Given the description of an element on the screen output the (x, y) to click on. 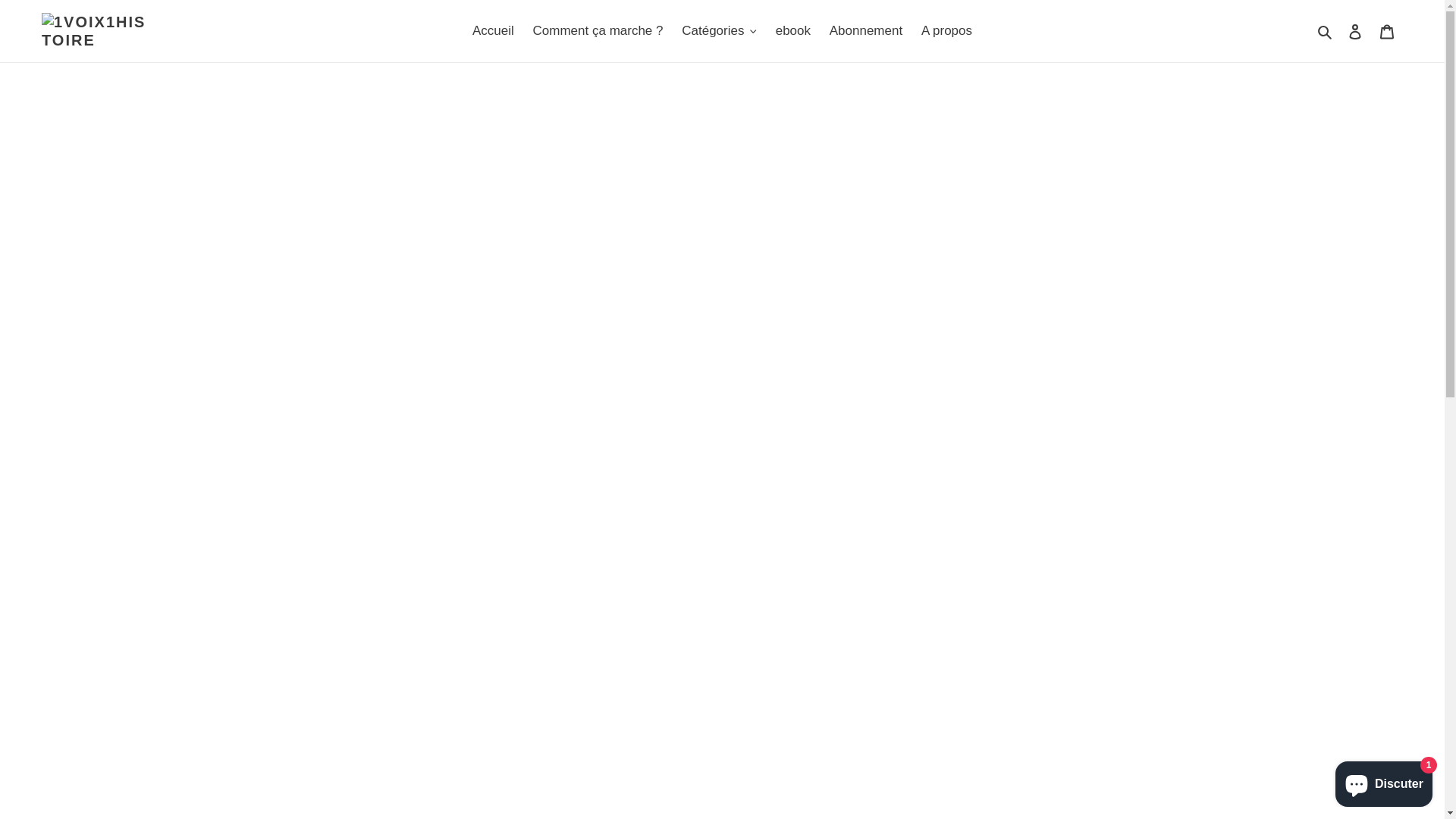
A propos Element type: text (946, 30)
Chat de la boutique en ligne Shopify Element type: hover (1383, 780)
Accueil Element type: text (492, 30)
Se connecter Element type: text (1355, 30)
Rechercher Element type: text (1325, 30)
ebook Element type: text (793, 30)
Abonnement Element type: text (866, 30)
Panier Element type: text (1386, 30)
